Given the description of an element on the screen output the (x, y) to click on. 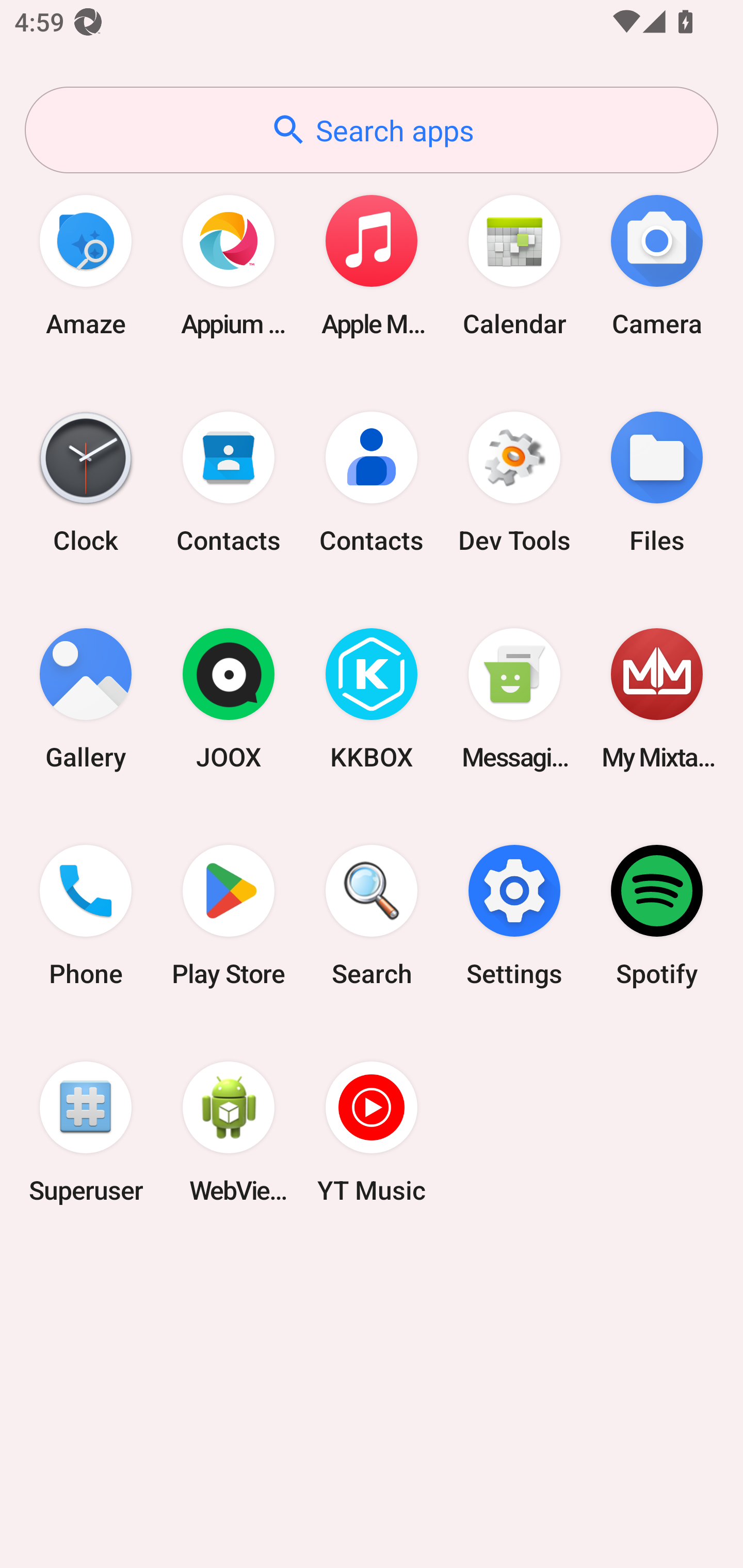
  Search apps (371, 130)
Amaze (85, 264)
Appium Settings (228, 264)
Apple Music (371, 264)
Calendar (514, 264)
Camera (656, 264)
Clock (85, 482)
Contacts (228, 482)
Contacts (371, 482)
Dev Tools (514, 482)
Files (656, 482)
Gallery (85, 699)
JOOX (228, 699)
KKBOX (371, 699)
Messaging (514, 699)
My Mixtapez (656, 699)
Phone (85, 915)
Play Store (228, 915)
Search (371, 915)
Settings (514, 915)
Spotify (656, 915)
Superuser (85, 1131)
WebView Browser Tester (228, 1131)
YT Music (371, 1131)
